Given the description of an element on the screen output the (x, y) to click on. 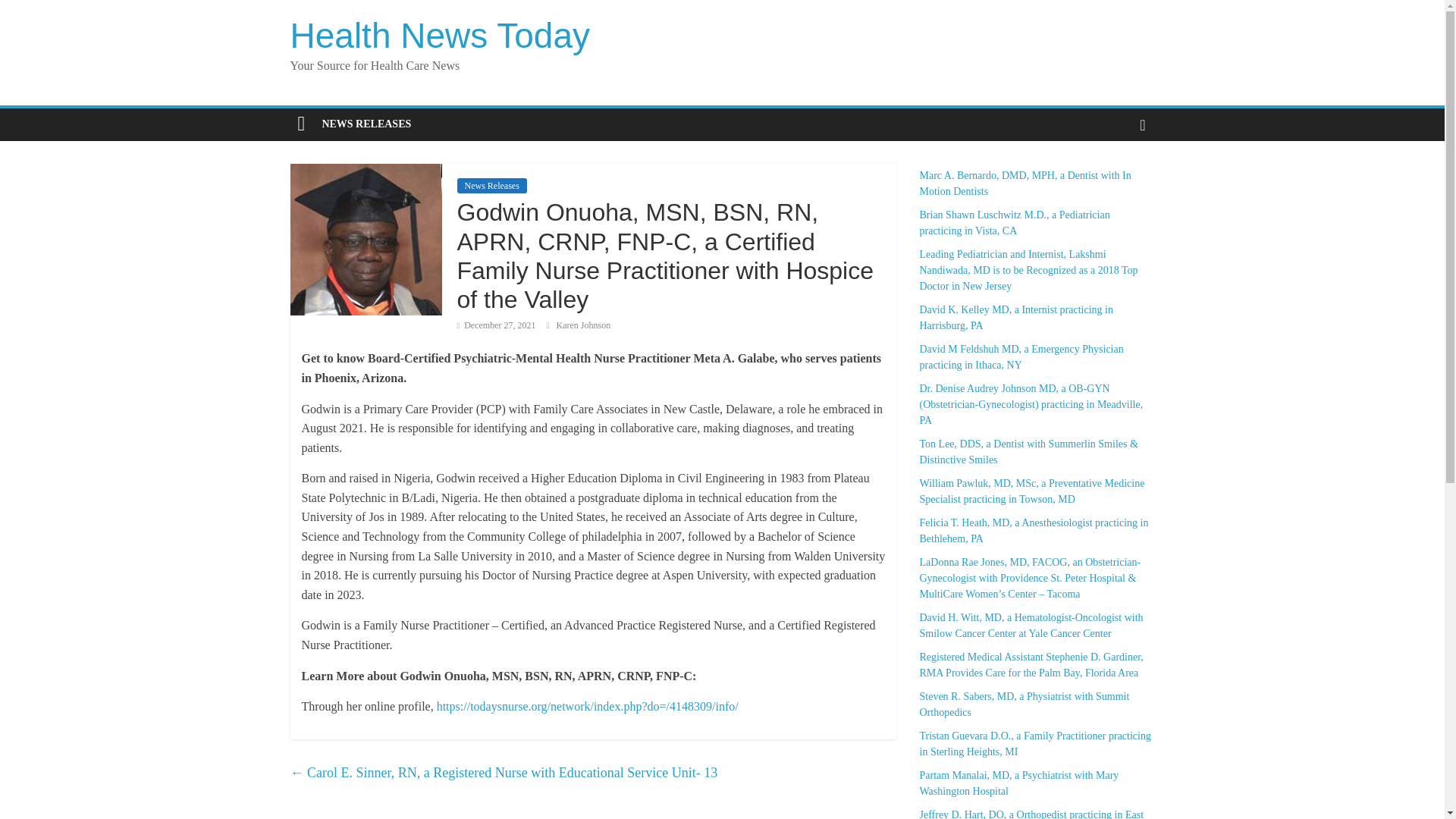
Health News Today (439, 35)
Steven R. Sabers, MD, a Physiatrist with Summit Orthopedics (1036, 704)
Karen Johnson (583, 325)
